Given the description of an element on the screen output the (x, y) to click on. 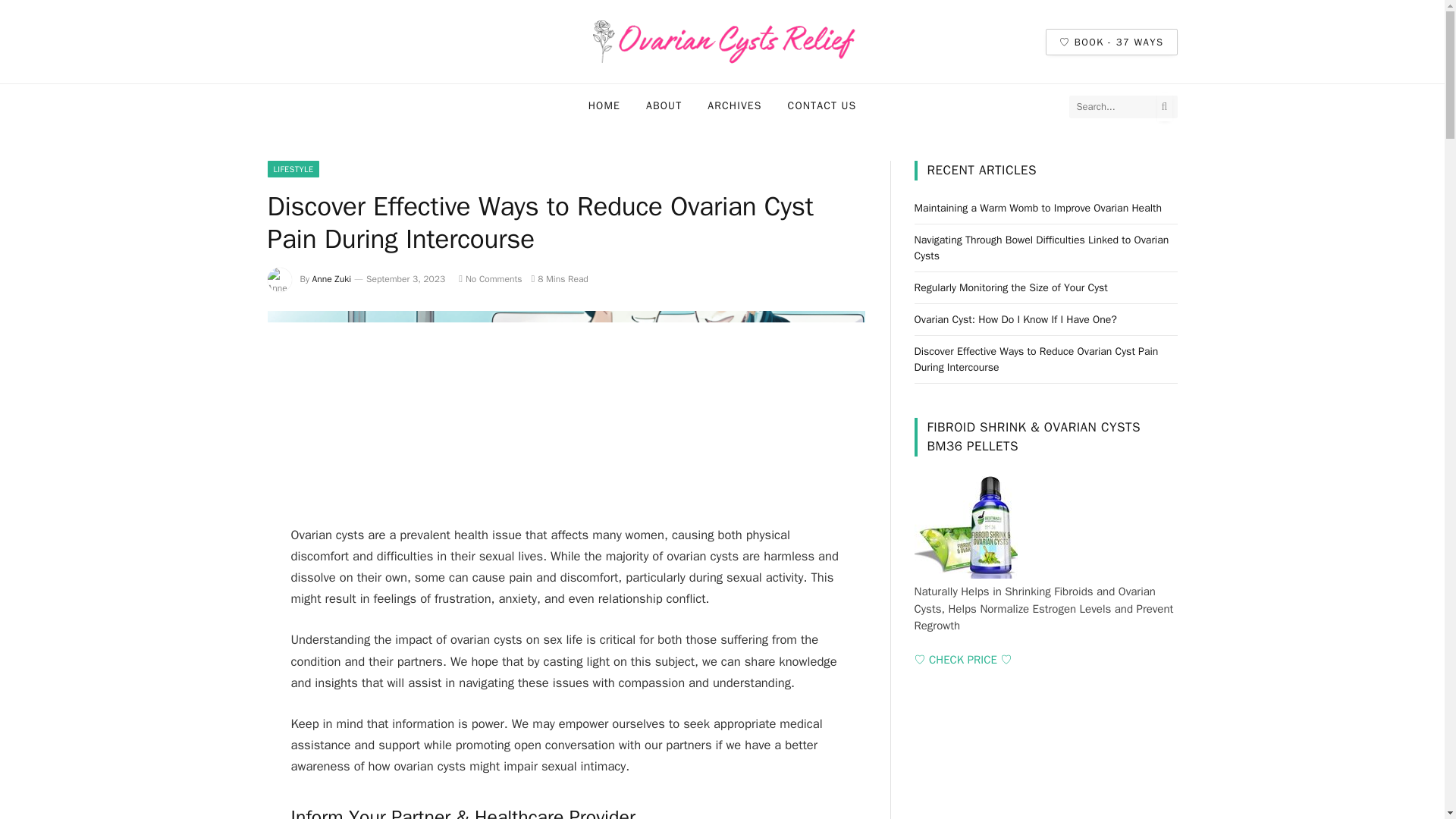
HOME (604, 106)
LIFESTYLE (292, 168)
Maintaining a Warm Womb to Improve Ovarian Health (1037, 207)
Ovarian Cysts Relief (721, 41)
CONTACT US (821, 106)
Anne Zuki (332, 278)
ABOUT (663, 106)
ARCHIVES (734, 106)
Posts by Anne Zuki (332, 278)
